Given the description of an element on the screen output the (x, y) to click on. 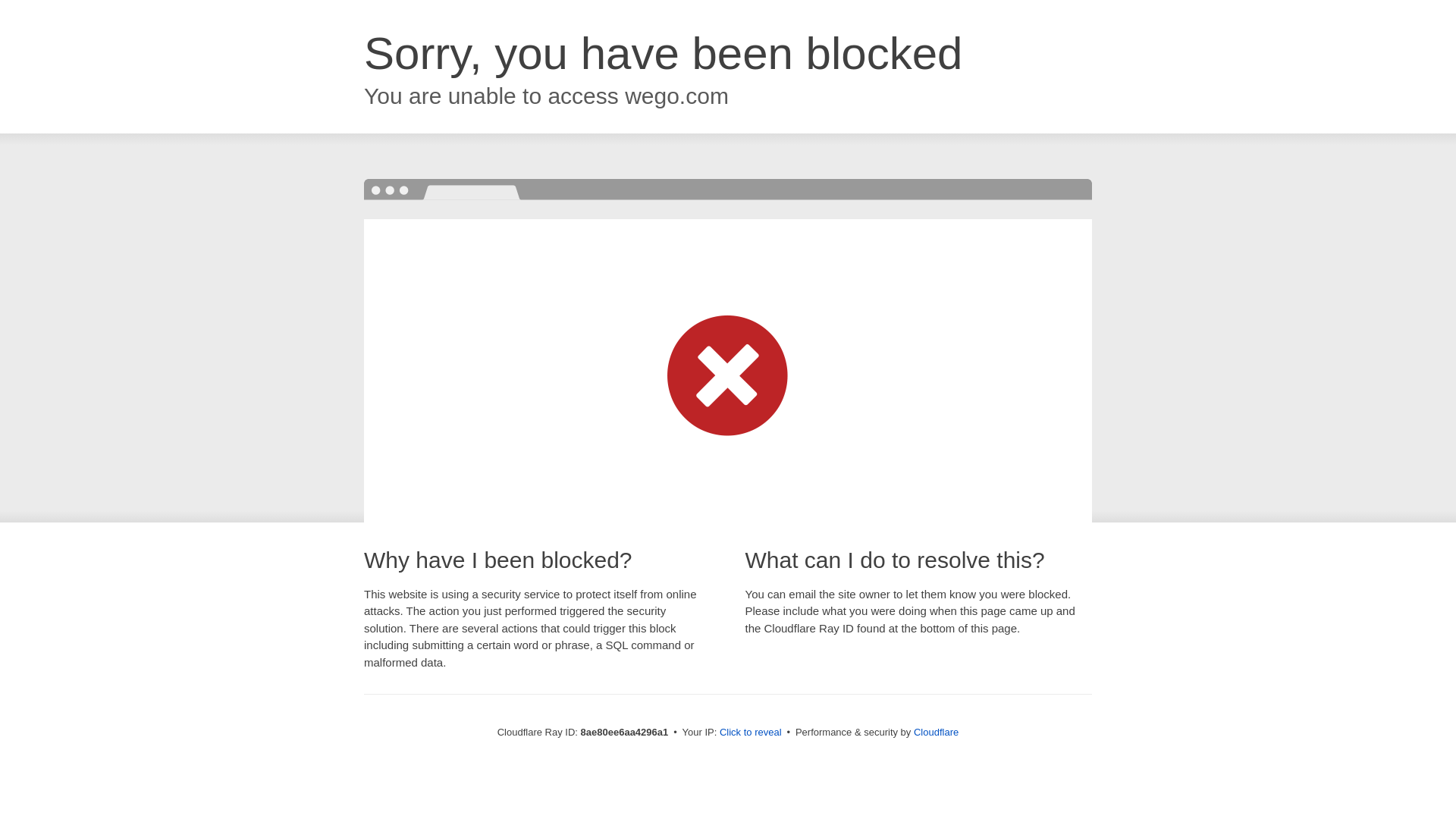
Click to reveal (750, 732)
Cloudflare (936, 731)
